Given the description of an element on the screen output the (x, y) to click on. 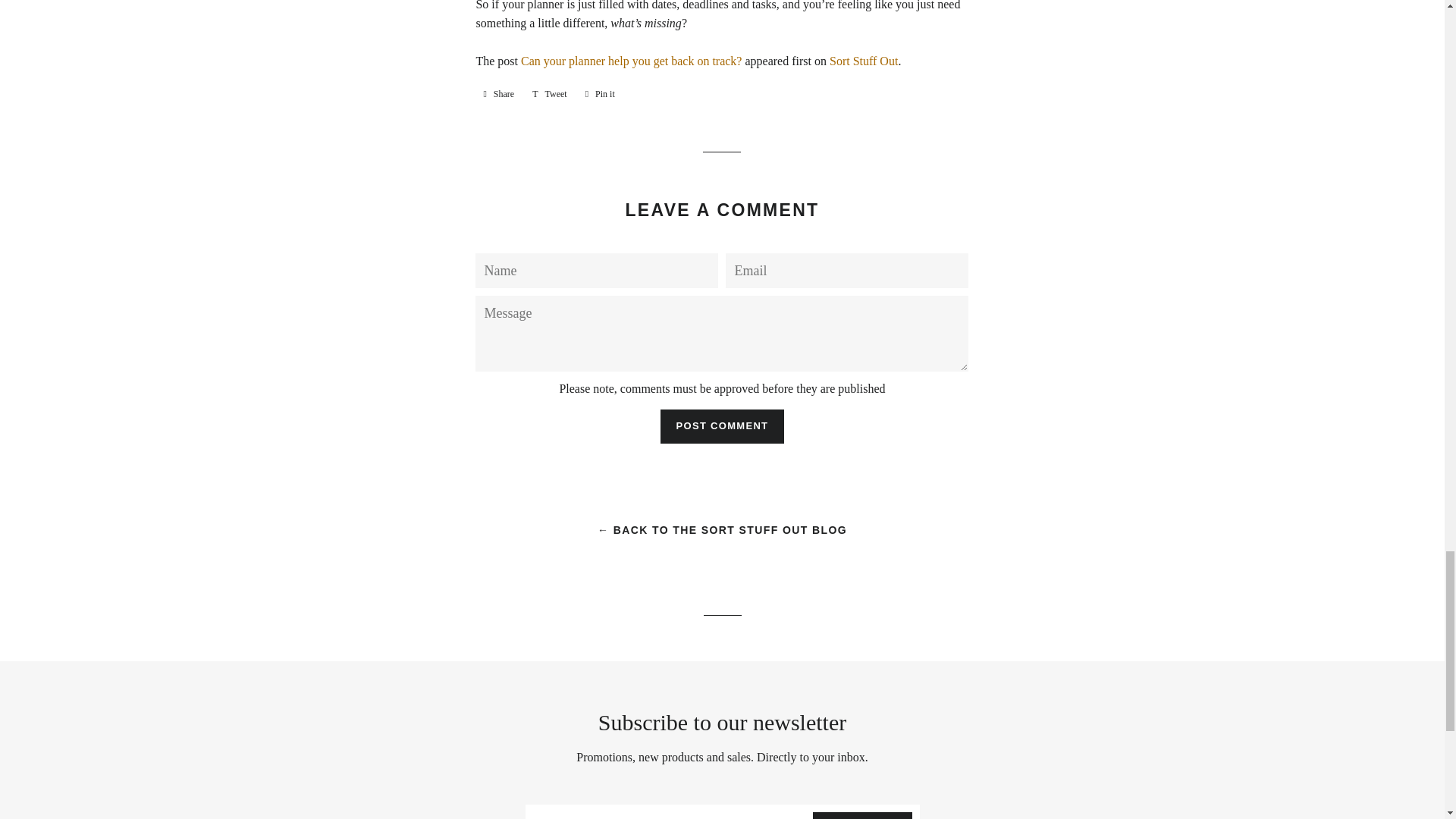
Post comment (722, 426)
Share on Facebook (498, 93)
Tweet on Twitter (549, 93)
Pin on Pinterest (600, 93)
